Given the description of an element on the screen output the (x, y) to click on. 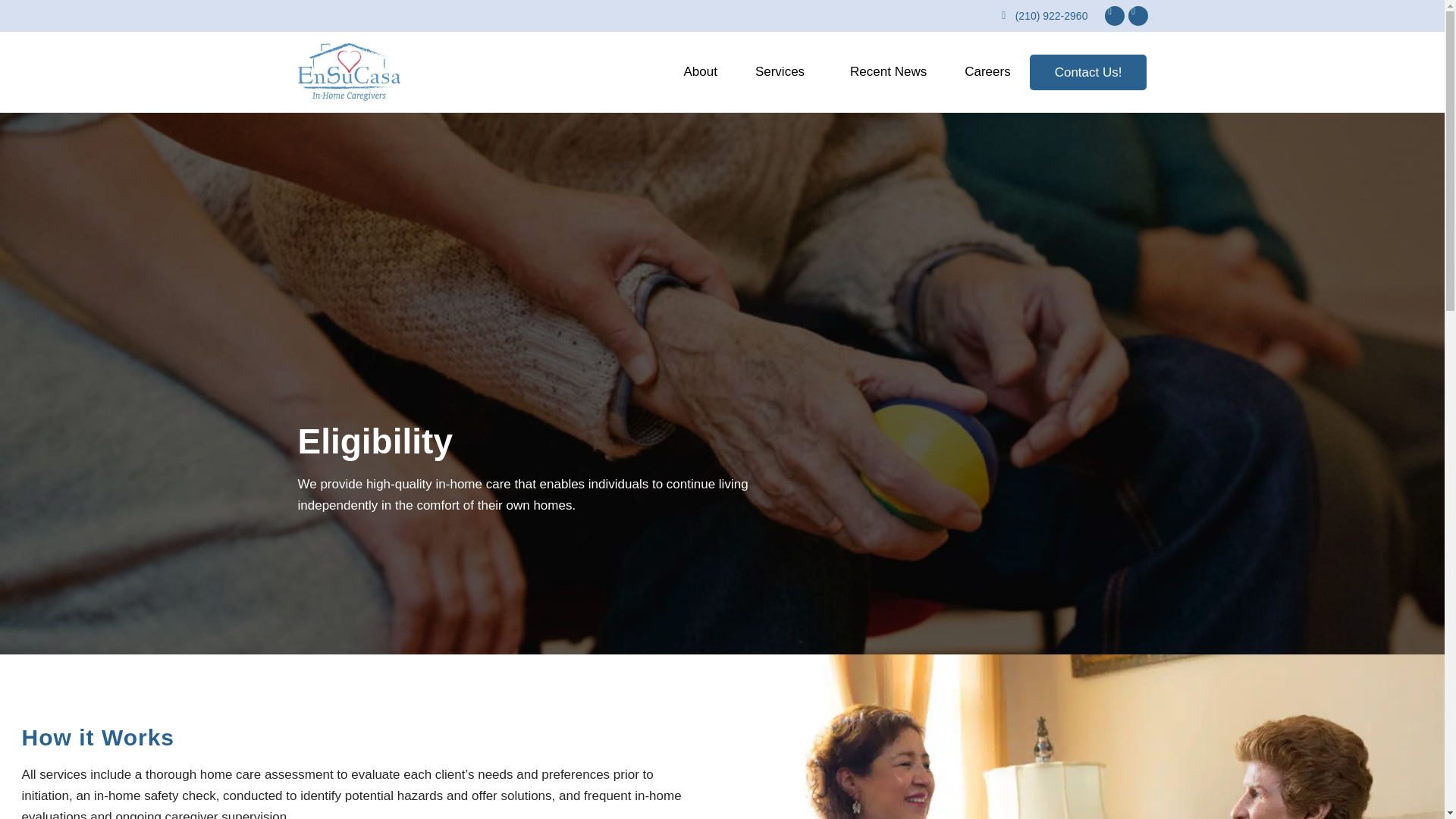
Recent News (887, 72)
Contact Us! (1088, 72)
Services (783, 72)
Careers (986, 72)
About (699, 72)
